Given the description of an element on the screen output the (x, y) to click on. 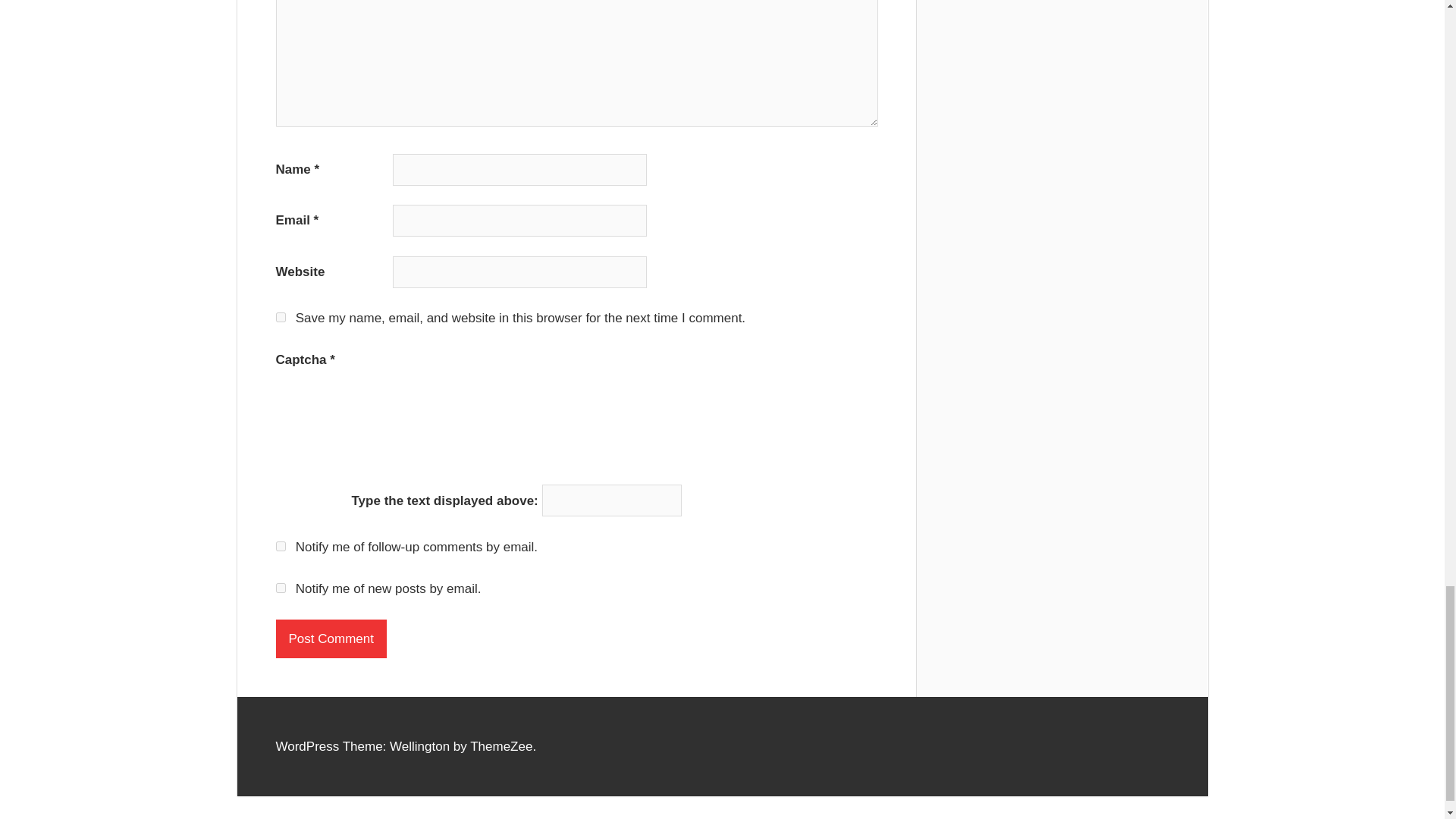
Post Comment (331, 638)
yes (280, 317)
subscribe (280, 587)
subscribe (280, 546)
Post Comment (331, 638)
